Given the description of an element on the screen output the (x, y) to click on. 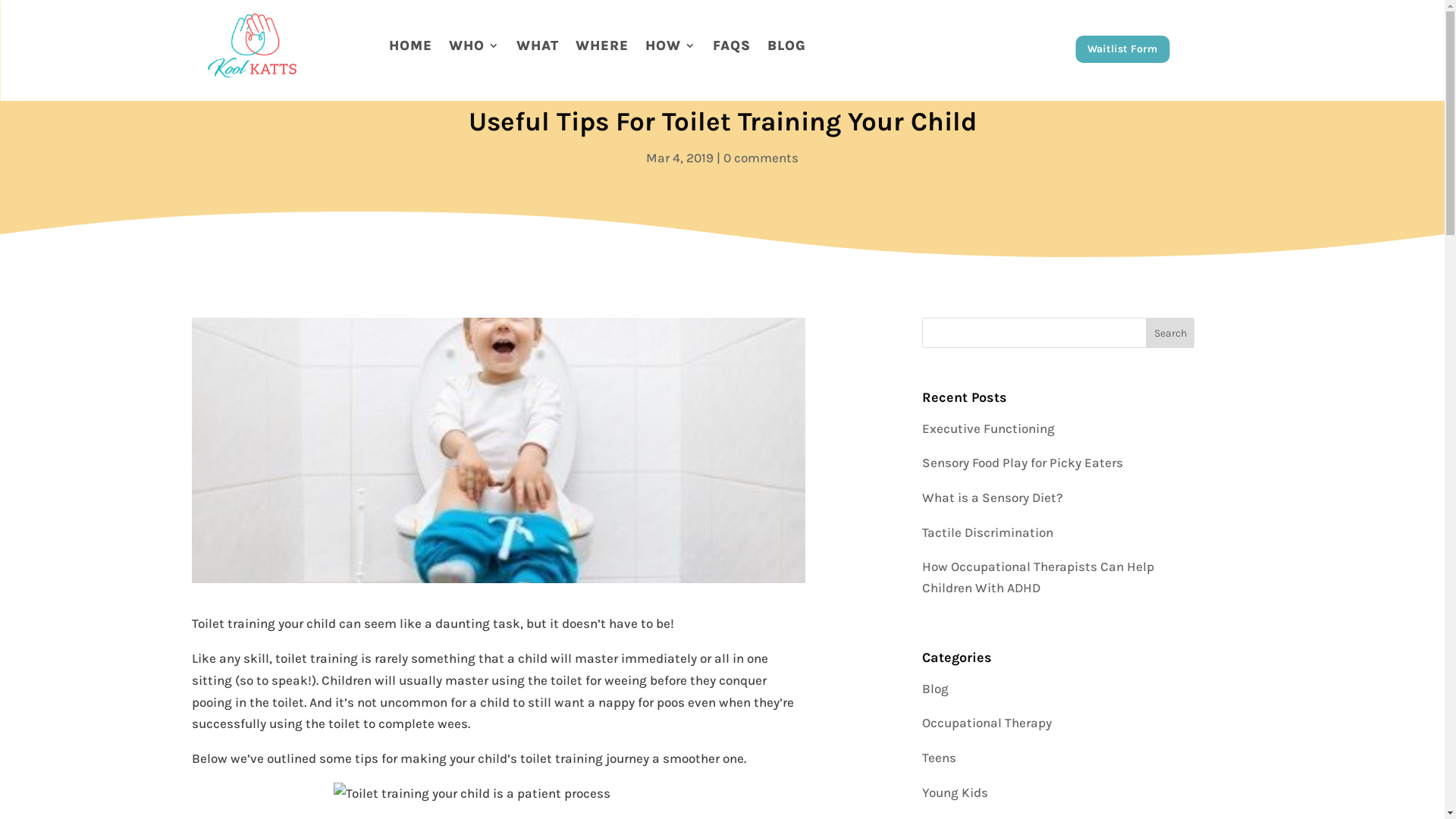
0 comments Element type: text (760, 157)
Search Element type: text (1170, 332)
Occupational Therapy Element type: text (986, 722)
Search Element type: text (23, 14)
WHAT Element type: text (536, 45)
BLOG Element type: text (786, 45)
HOW Element type: text (669, 45)
WHO Element type: text (473, 45)
Executive Functioning Element type: text (988, 428)
Blog Element type: text (935, 688)
Sensory Food Play for Picky Eaters Element type: text (1022, 462)
WHERE Element type: text (600, 45)
Teens Element type: text (939, 757)
Tactile Discrimination Element type: text (987, 531)
How Occupational Therapists Can Help Children With ADHD Element type: text (1038, 576)
Waitlist Form Element type: text (1122, 48)
What is a Sensory Diet? Element type: text (992, 497)
HOME Element type: text (409, 45)
FAQS Element type: text (731, 45)
Young Kids Element type: text (955, 792)
